Given the description of an element on the screen output the (x, y) to click on. 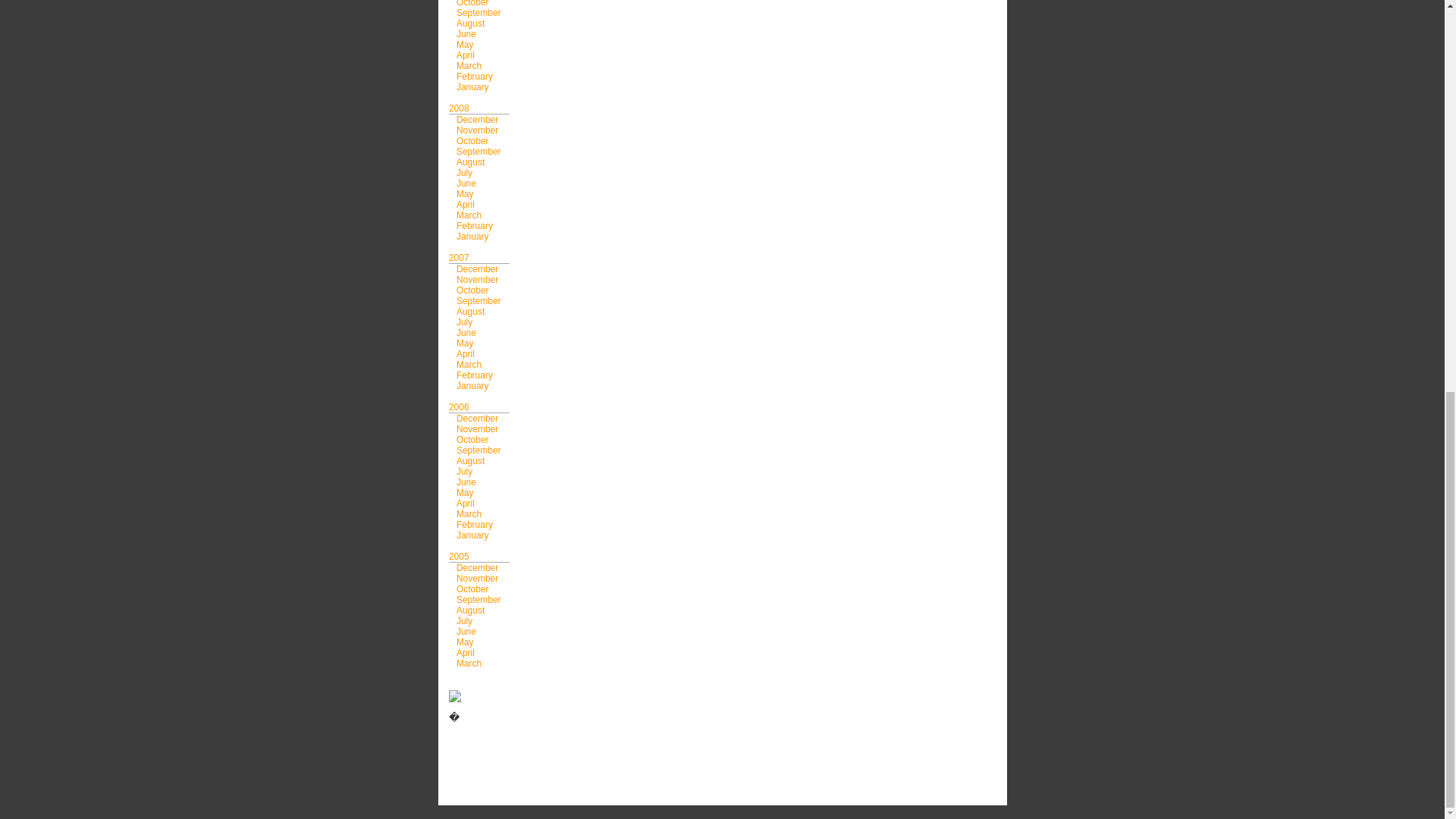
January (473, 86)
March (469, 65)
September (478, 12)
April (465, 54)
February (475, 76)
June (466, 33)
May (465, 44)
August (470, 23)
October (473, 3)
